Given the description of an element on the screen output the (x, y) to click on. 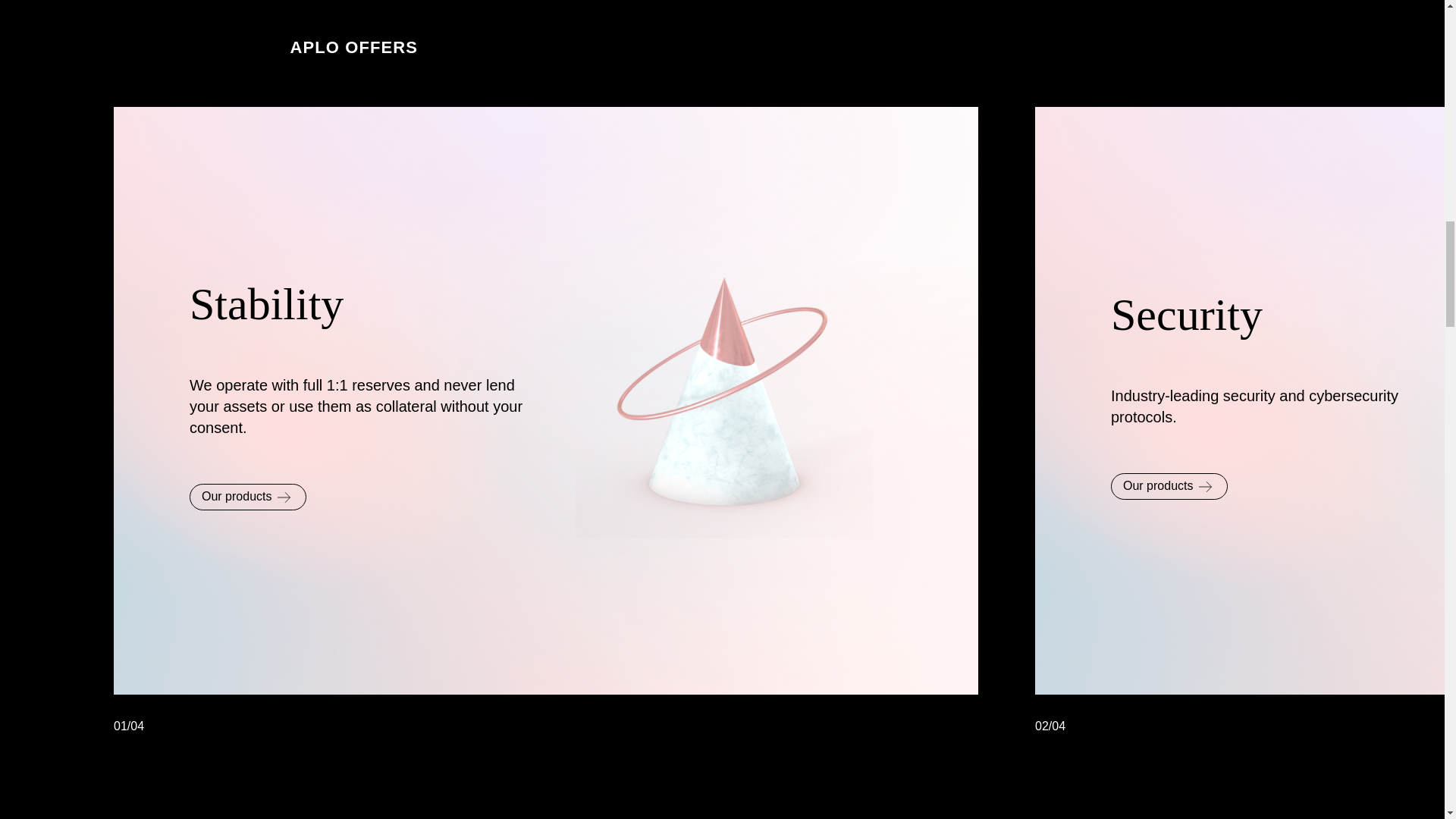
Our products (247, 50)
Our products (1168, 40)
